Given the description of an element on the screen output the (x, y) to click on. 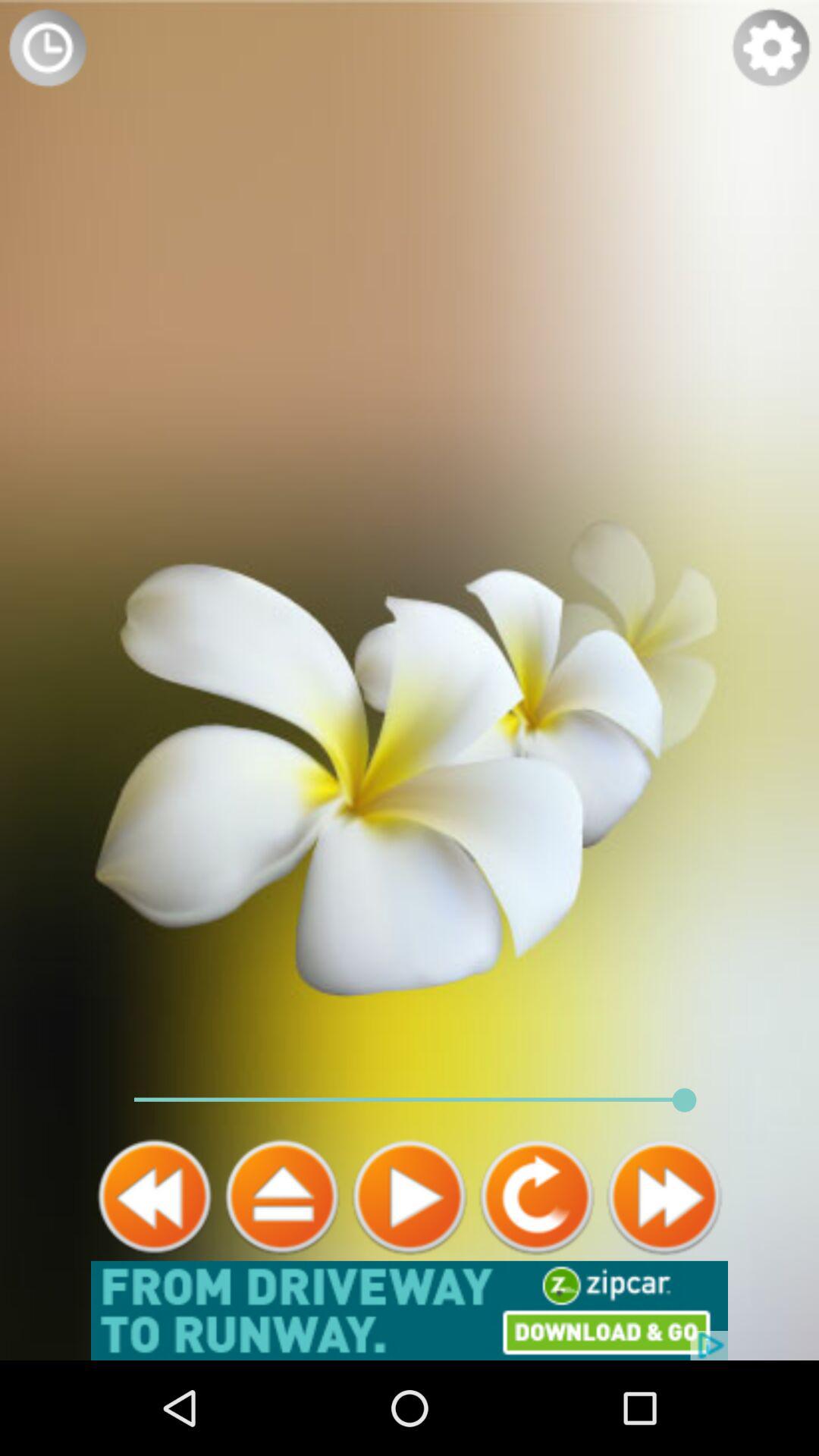
advertisement (409, 1310)
